Given the description of an element on the screen output the (x, y) to click on. 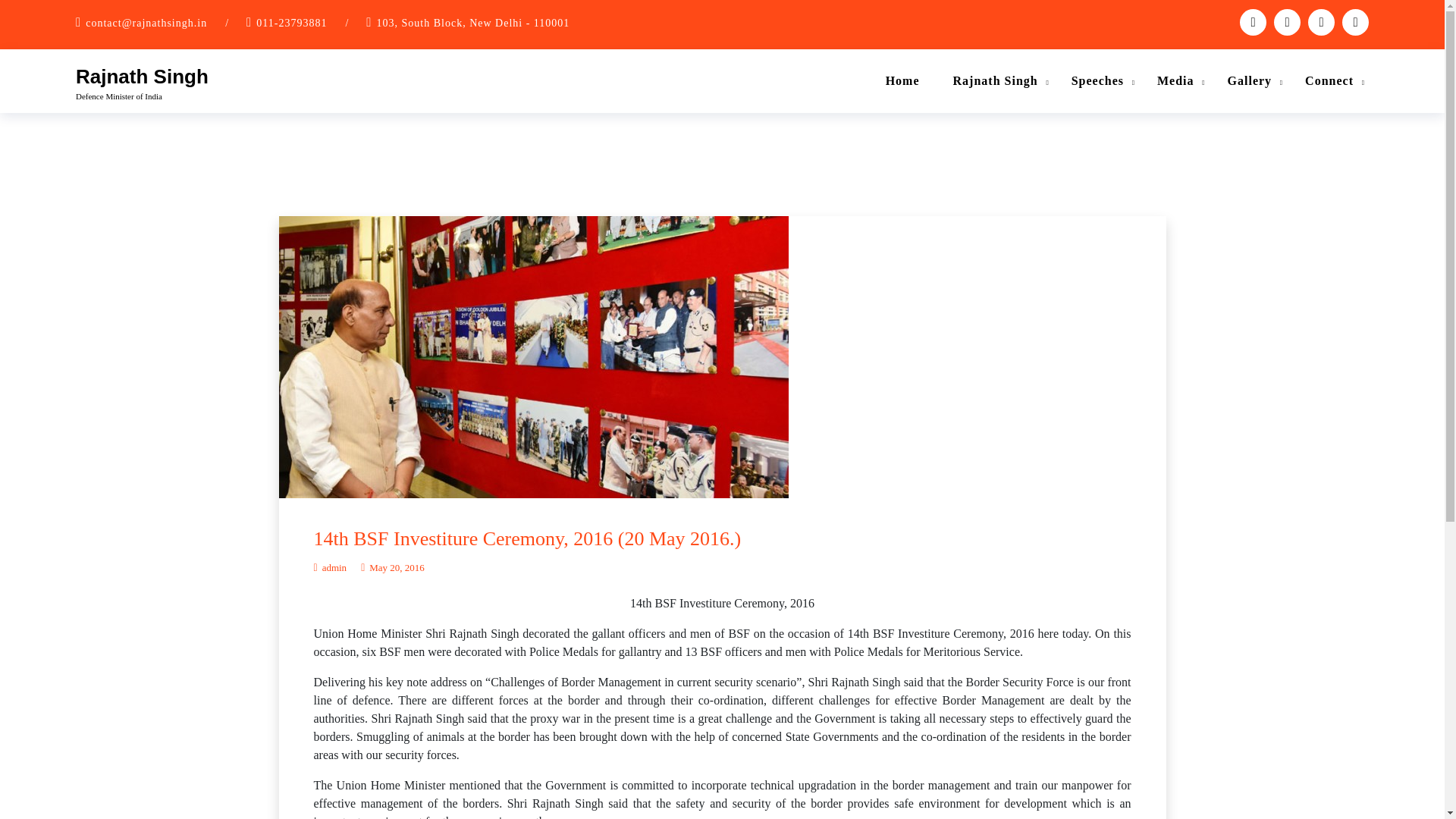
May 20, 2016 (393, 567)
103, South Block, New Delhi - 110001 (473, 22)
011-23793881 (291, 22)
Connect (1329, 80)
Gallery (1249, 80)
Speeches (1097, 80)
Rajnath Singh (994, 80)
admin (330, 567)
Media (1175, 80)
Rajnath Singh (141, 76)
Home (902, 80)
